Given the description of an element on the screen output the (x, y) to click on. 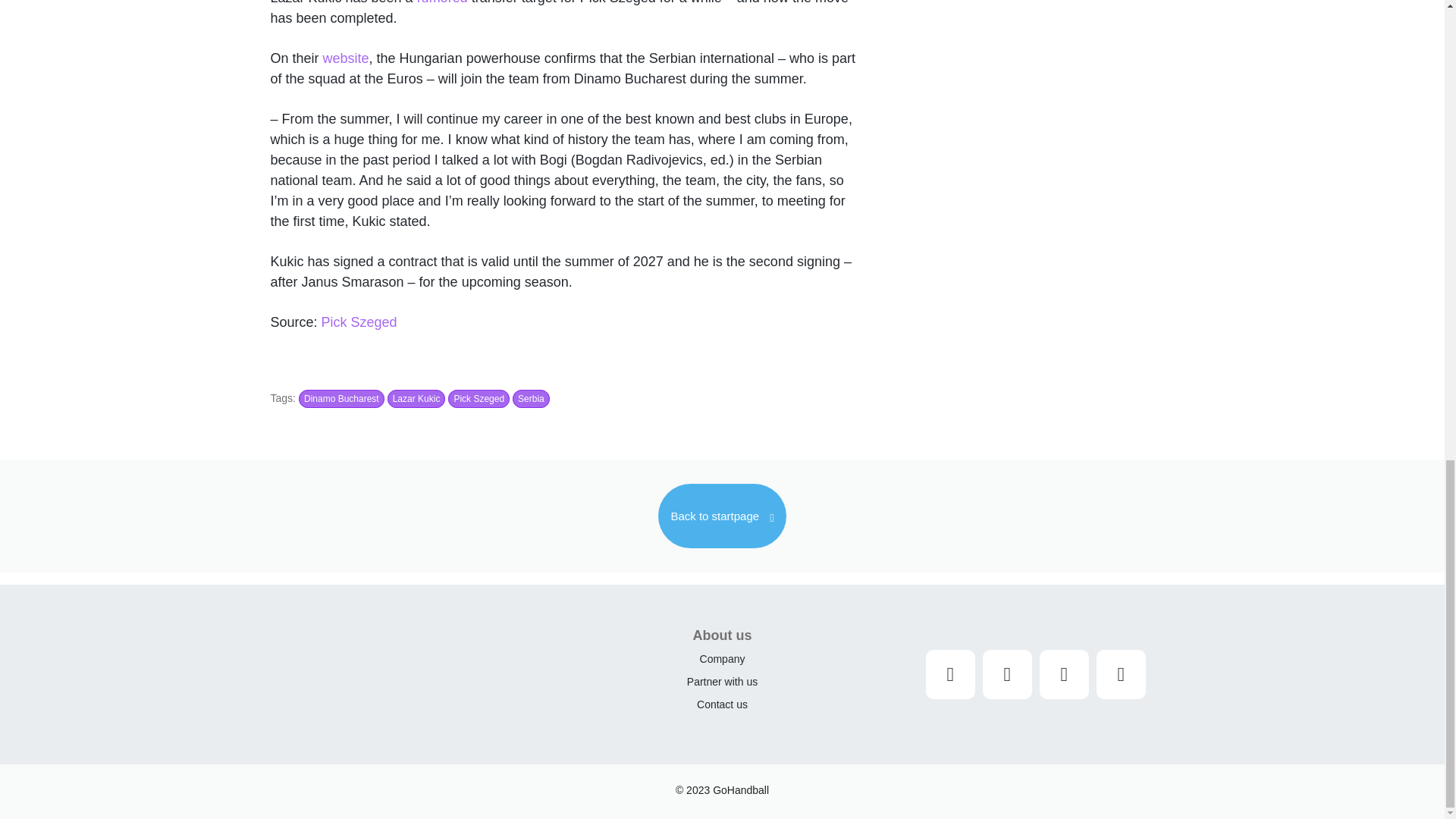
Facebook (1007, 674)
Twitter (1064, 674)
Back to startpage (722, 515)
Instagram (950, 674)
Tiktok (1120, 674)
